Given the description of an element on the screen output the (x, y) to click on. 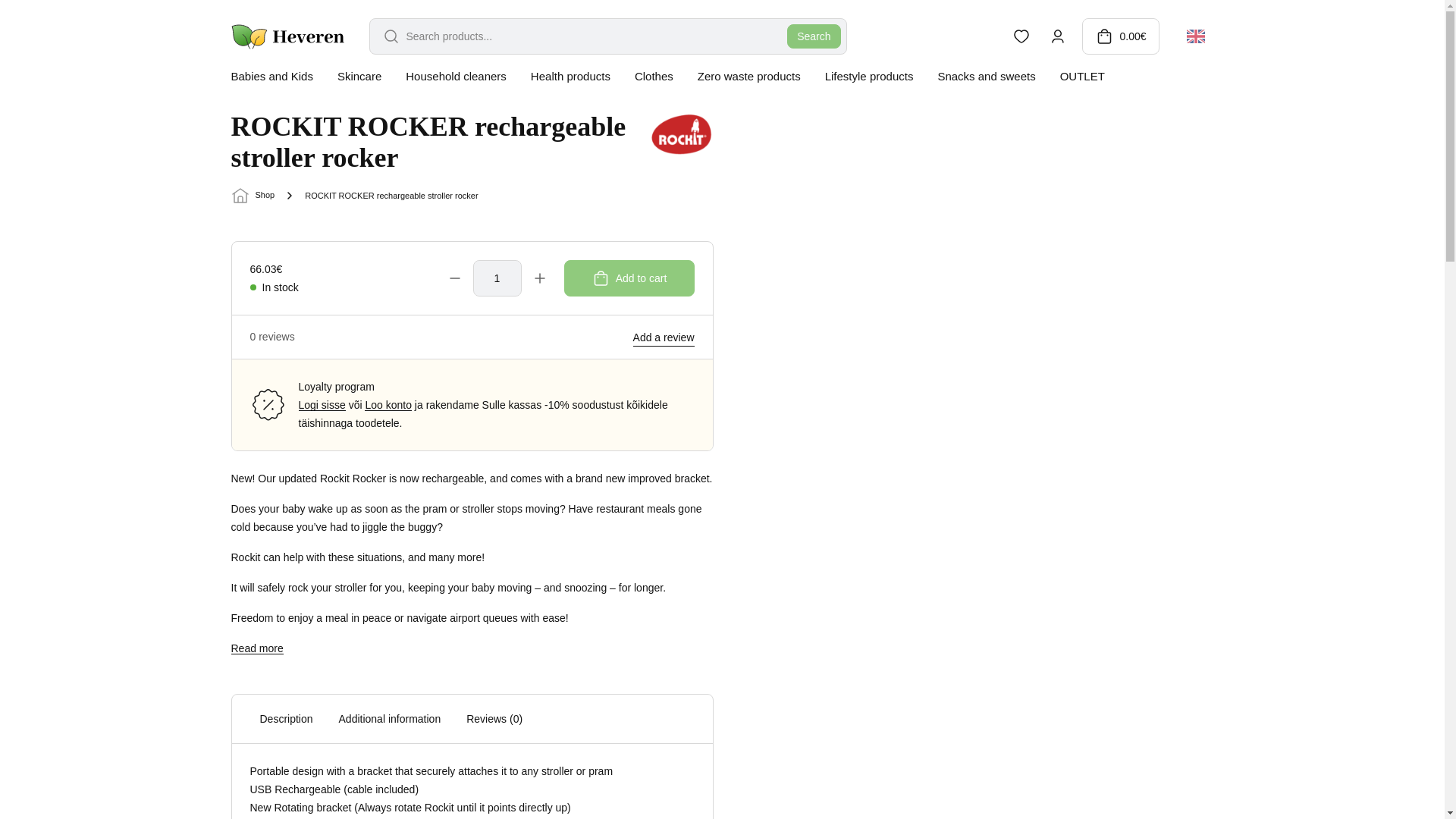
Skincare (359, 76)
Household cleaners (456, 76)
Search (813, 36)
Babies and Kids (271, 76)
1 (497, 278)
